Given the description of an element on the screen output the (x, y) to click on. 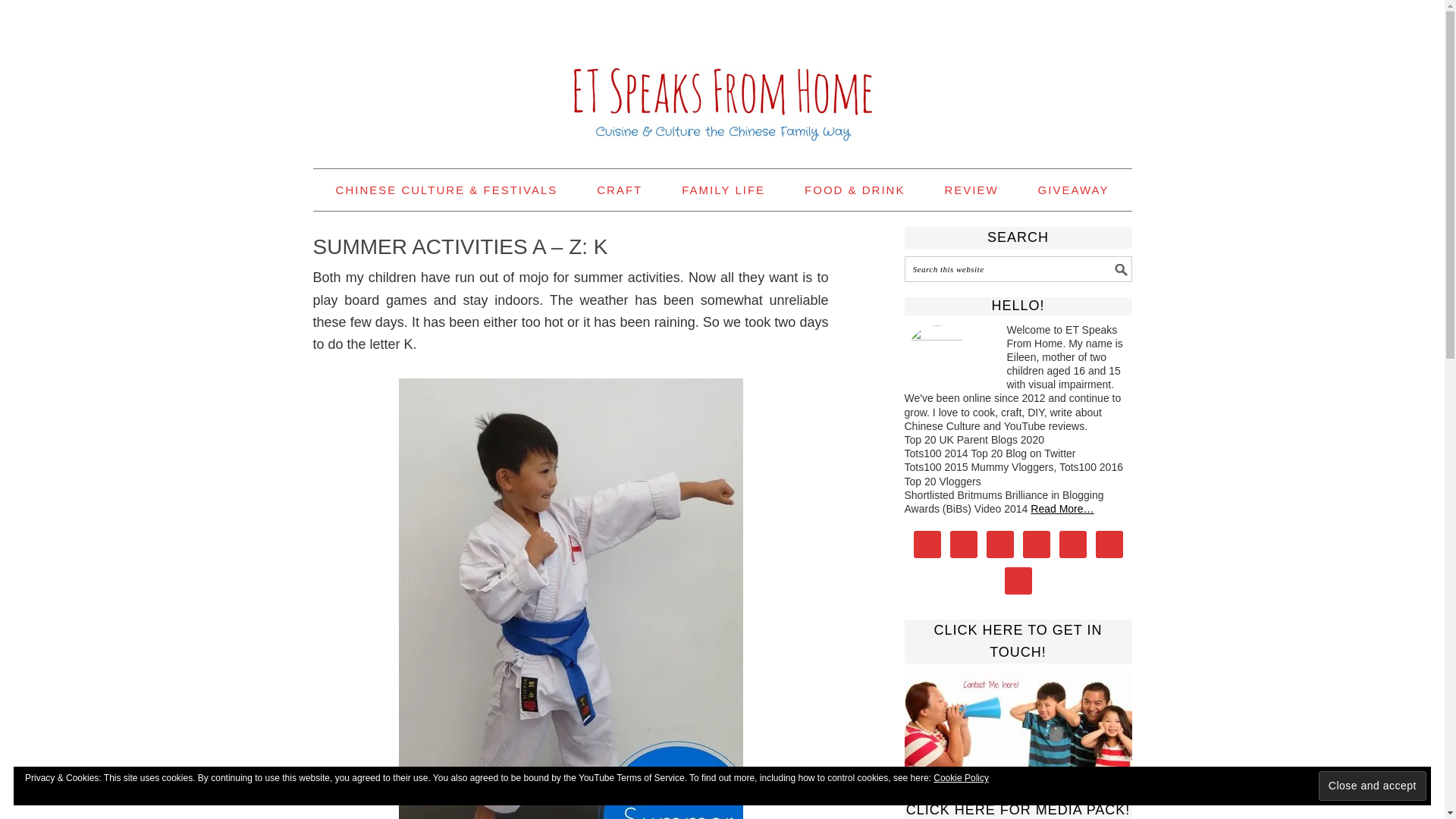
FAMILY LIFE (723, 189)
ET SPEAKS FROM HOME (722, 77)
Click here to get in touch! (1017, 718)
REVIEW (970, 189)
Close and accept (1372, 785)
CRAFT (619, 189)
